Given the description of an element on the screen output the (x, y) to click on. 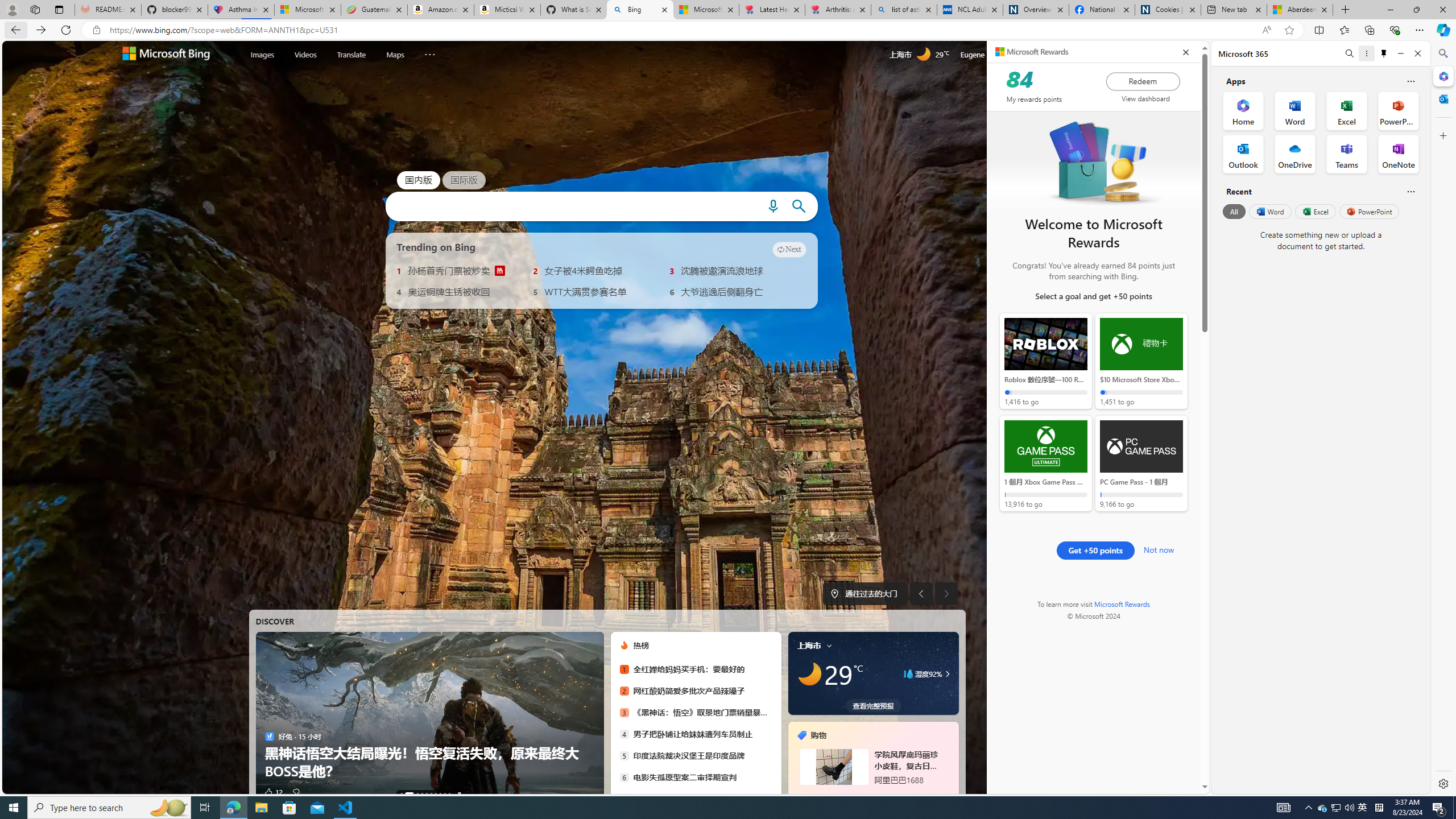
Get +50 points (1094, 550)
Previous image (921, 593)
AutomationID: tab-2 (413, 793)
AutomationID: tab-1 (405, 793)
